Given the description of an element on the screen output the (x, y) to click on. 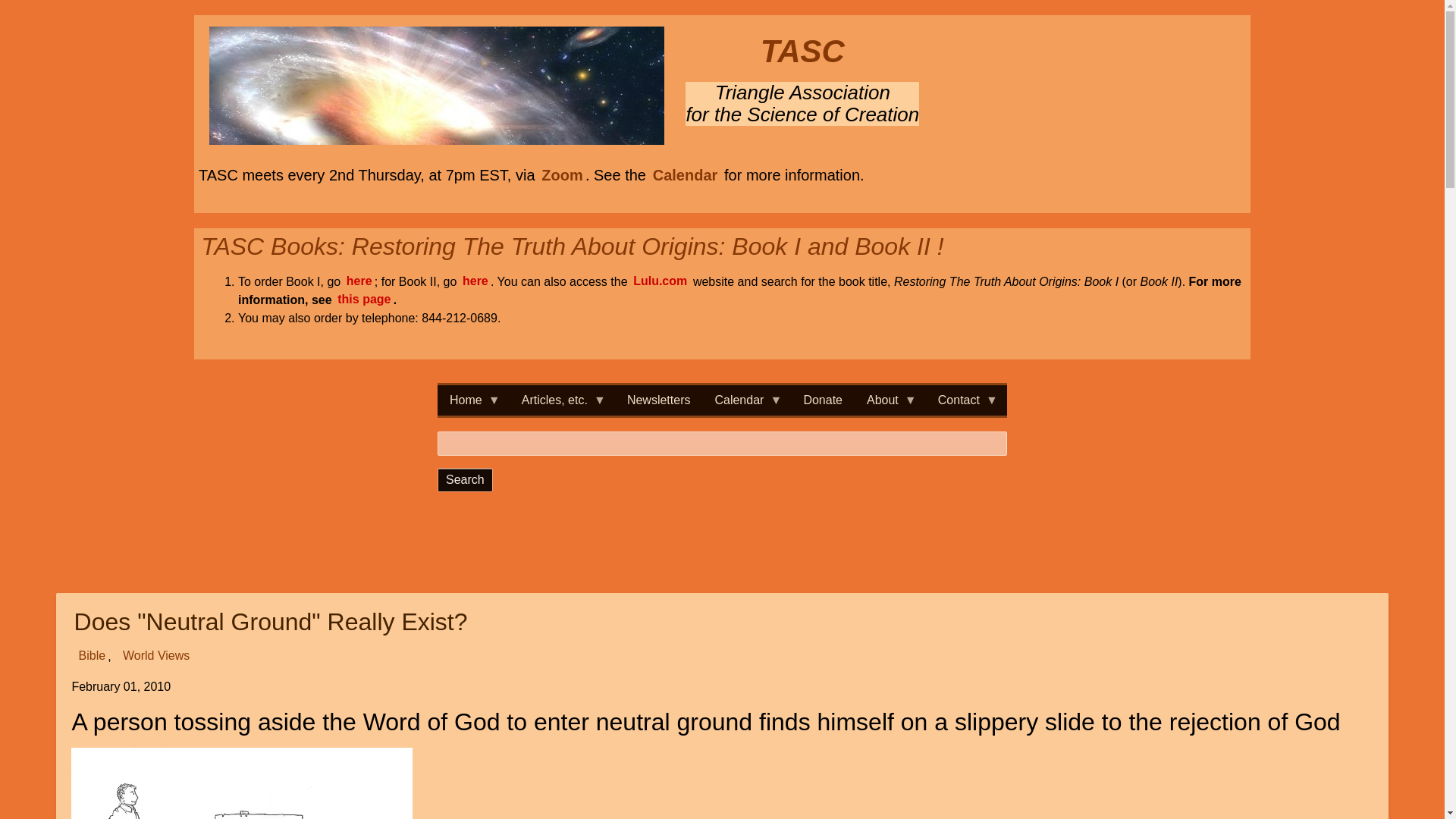
Search (465, 479)
here (475, 280)
Calendar (685, 174)
About TASC (890, 399)
Calendar of events (745, 399)
Search (465, 479)
Donate (822, 399)
TASC (802, 51)
Zoom (561, 174)
